Given the description of an element on the screen output the (x, y) to click on. 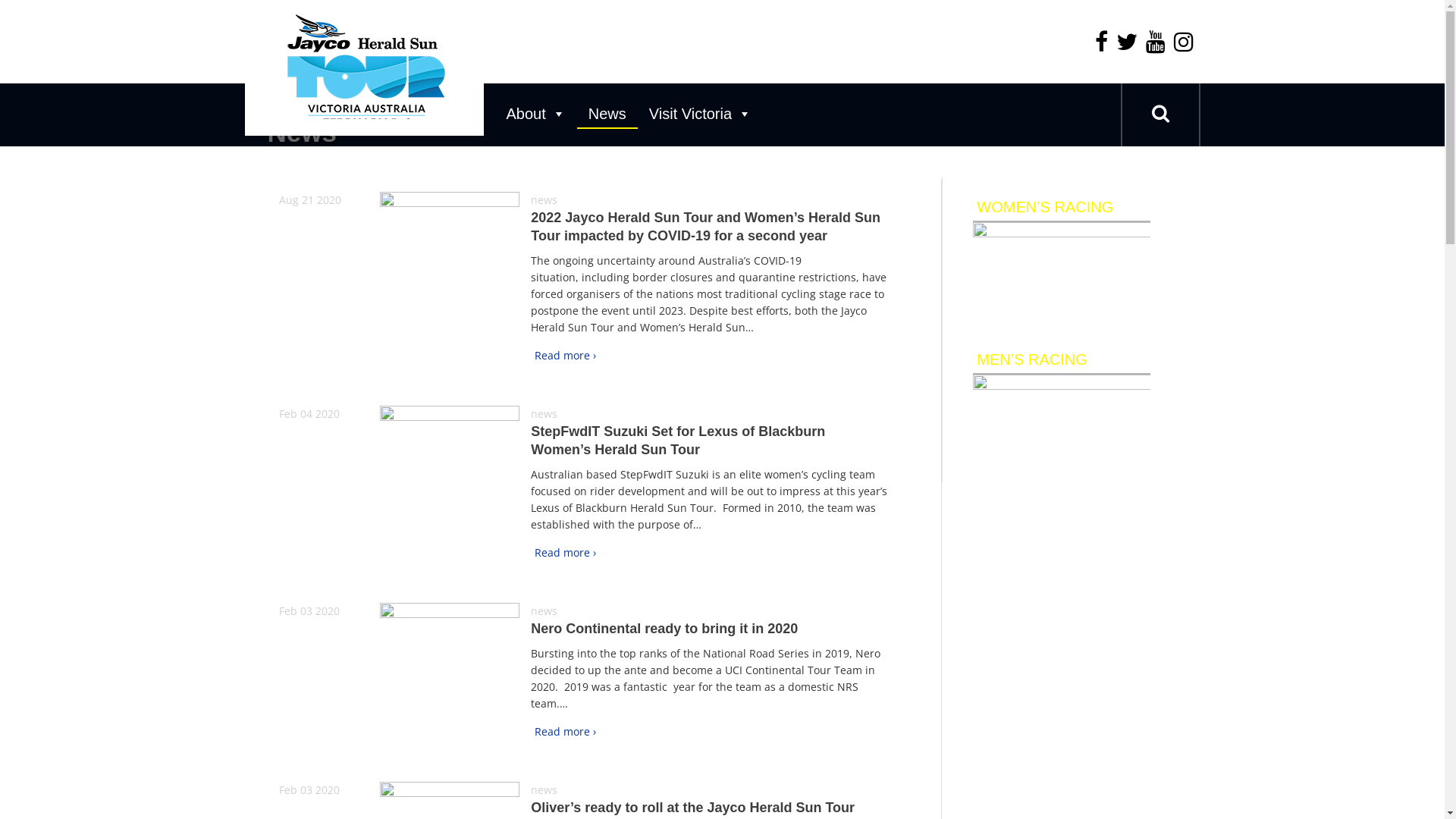
Nero Continental ready to bring it in 2020 Element type: text (663, 628)
About Element type: text (535, 113)
Visit Victoria Element type: text (699, 113)
Search Element type: hover (1159, 112)
News Element type: text (493, 132)
News Element type: text (607, 113)
Results Element type: hover (1061, 260)
